Given the description of an element on the screen output the (x, y) to click on. 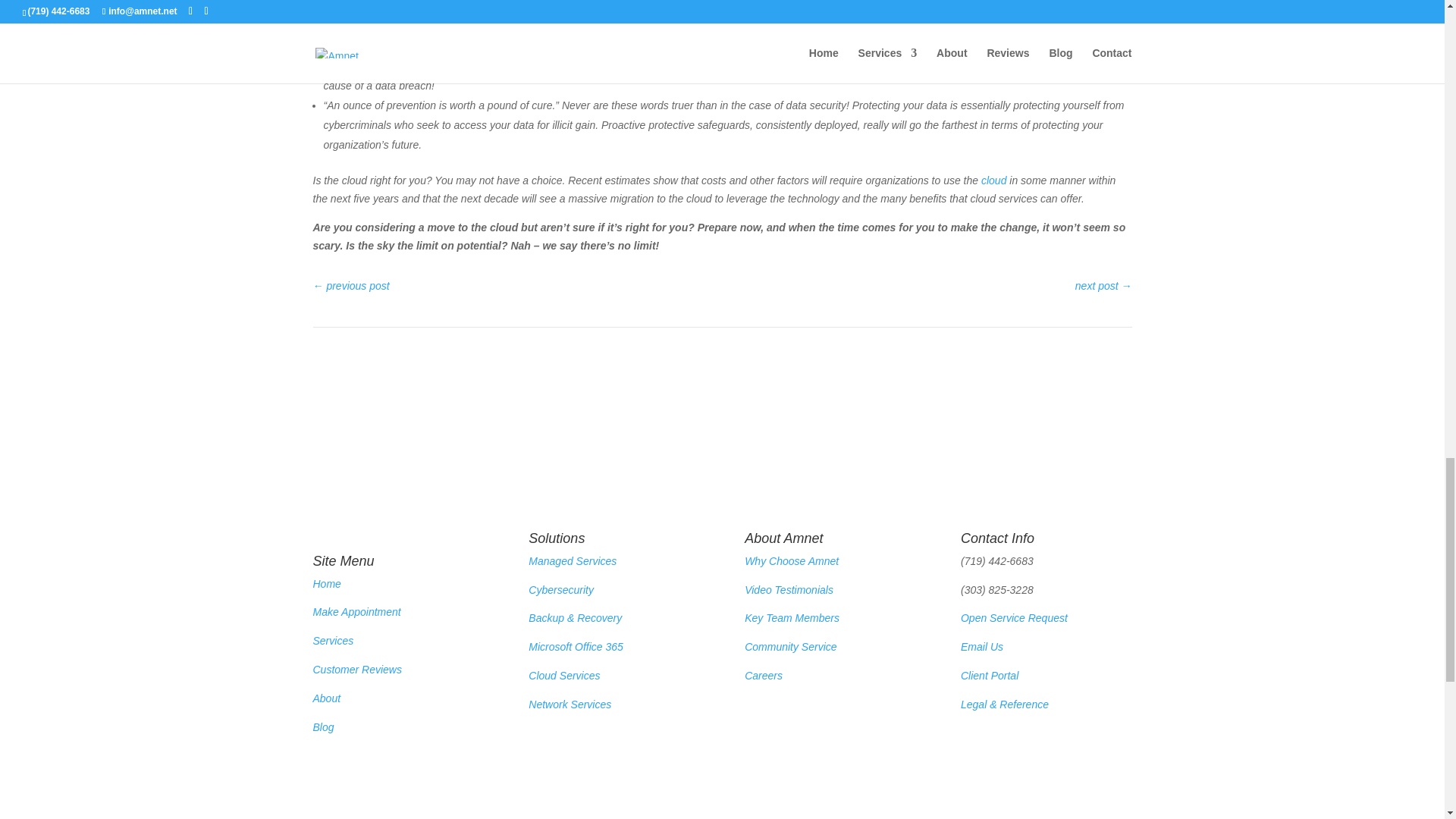
Customer Reviews (357, 669)
cloud (993, 180)
Home (326, 583)
Services (333, 640)
Make Appointment (356, 612)
